Given the description of an element on the screen output the (x, y) to click on. 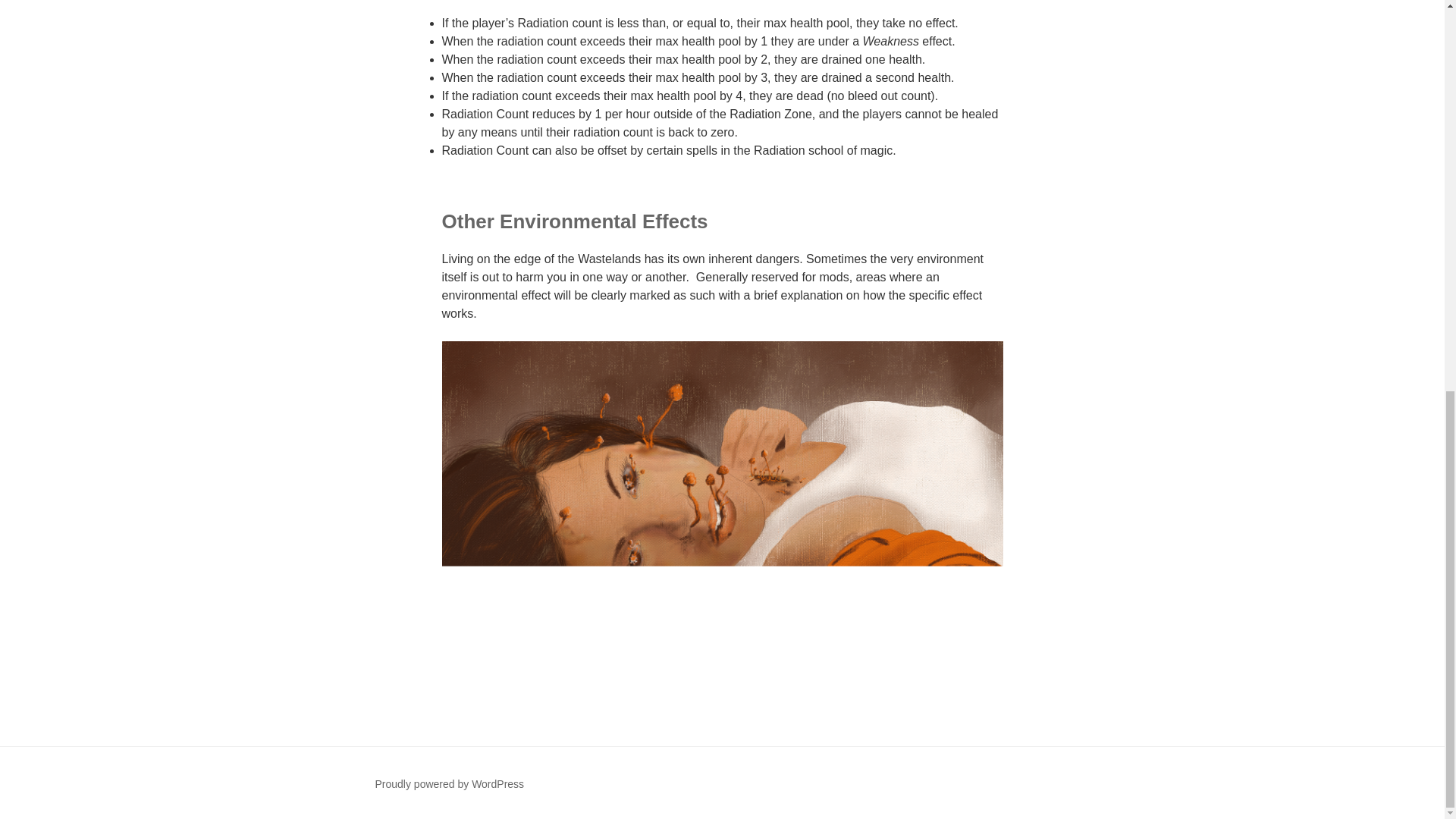
Proudly powered by WordPress (449, 784)
